Given the description of an element on the screen output the (x, y) to click on. 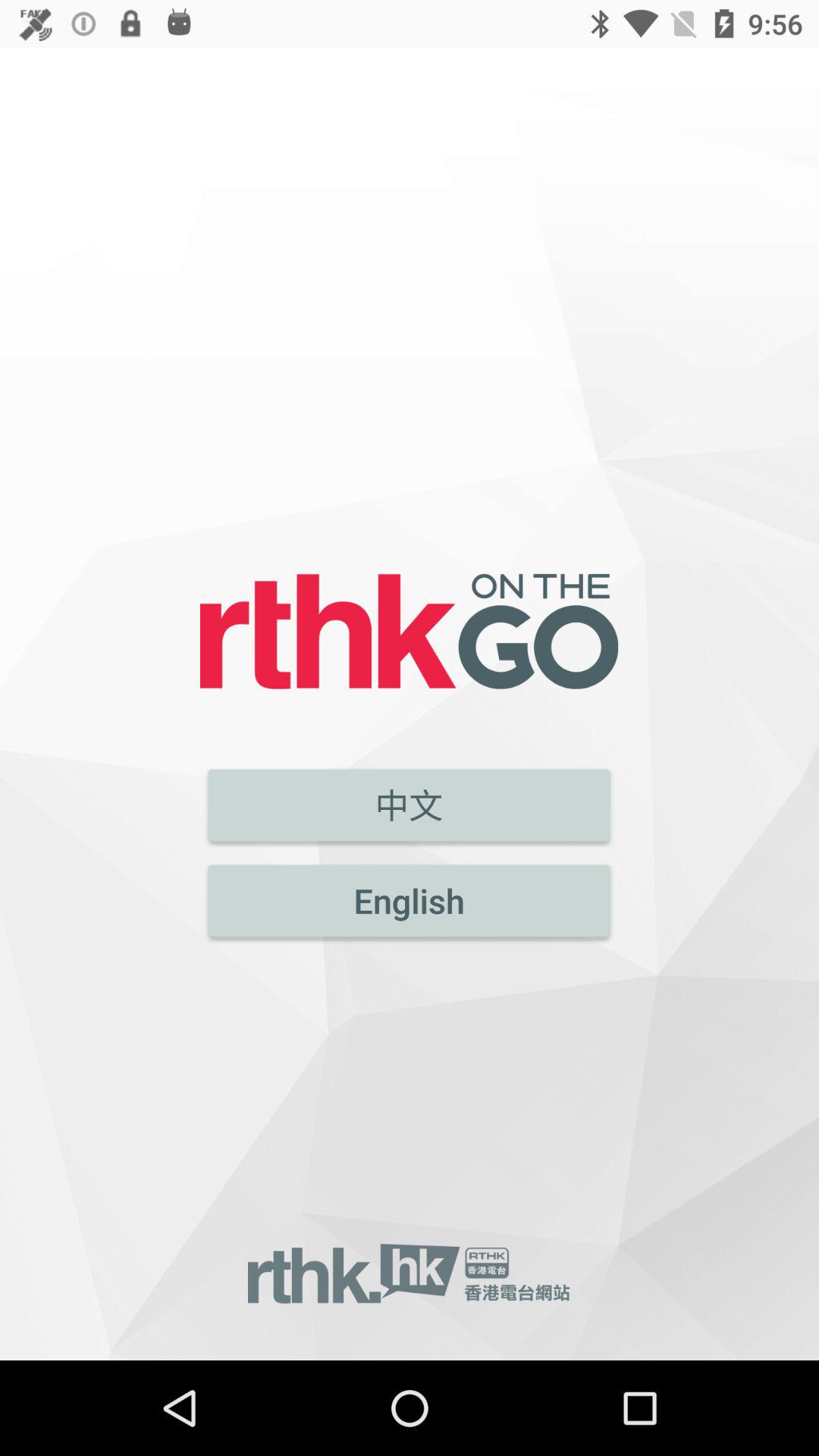
select english icon (409, 900)
